Given the description of an element on the screen output the (x, y) to click on. 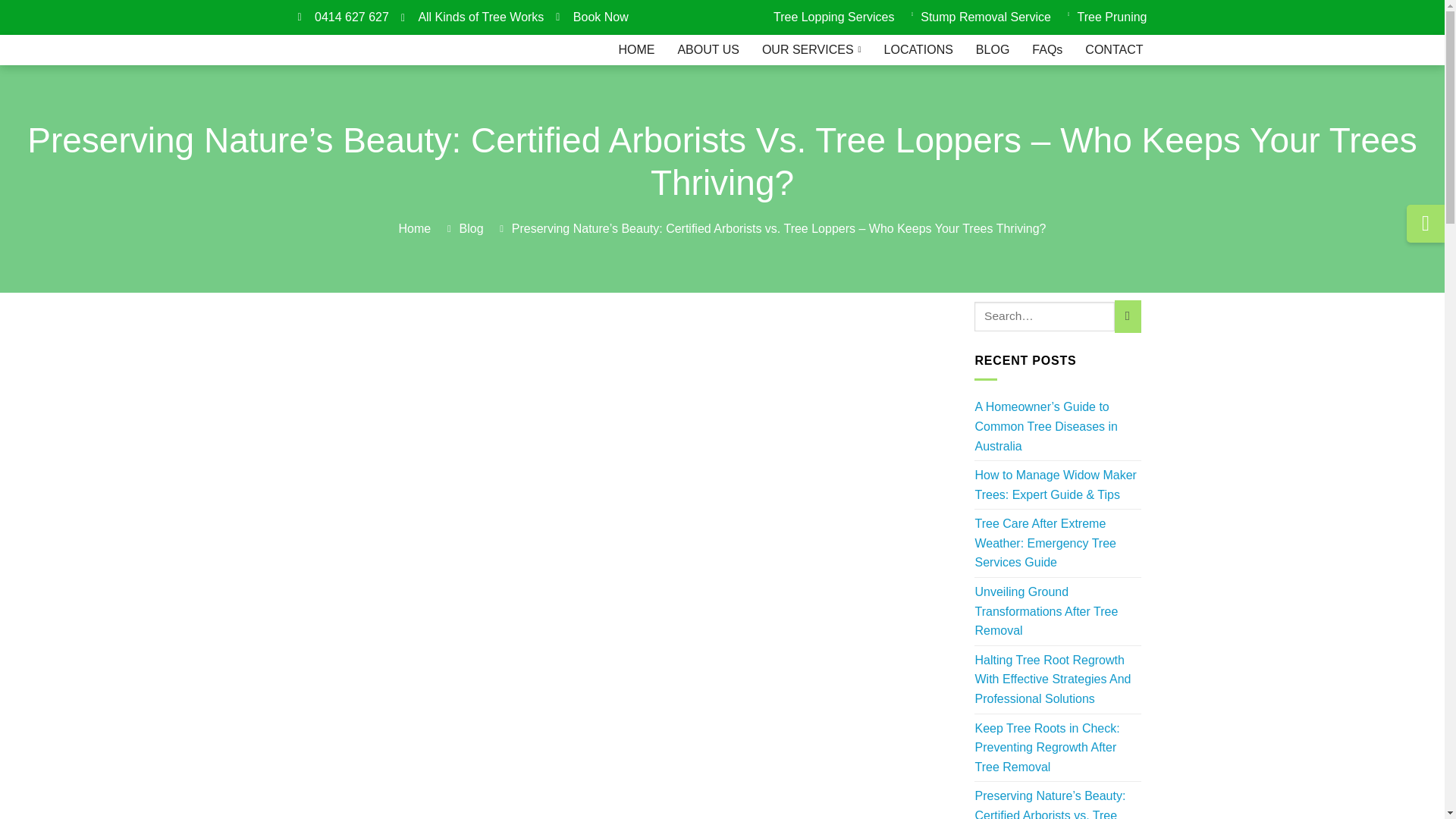
Home (414, 229)
ABOUT US (708, 49)
Tree Lopping Services (830, 17)
BLOG (991, 49)
HOME (636, 49)
CONTACT (1114, 49)
Book Now (591, 17)
Stump Removal Service (977, 17)
